Given the description of an element on the screen output the (x, y) to click on. 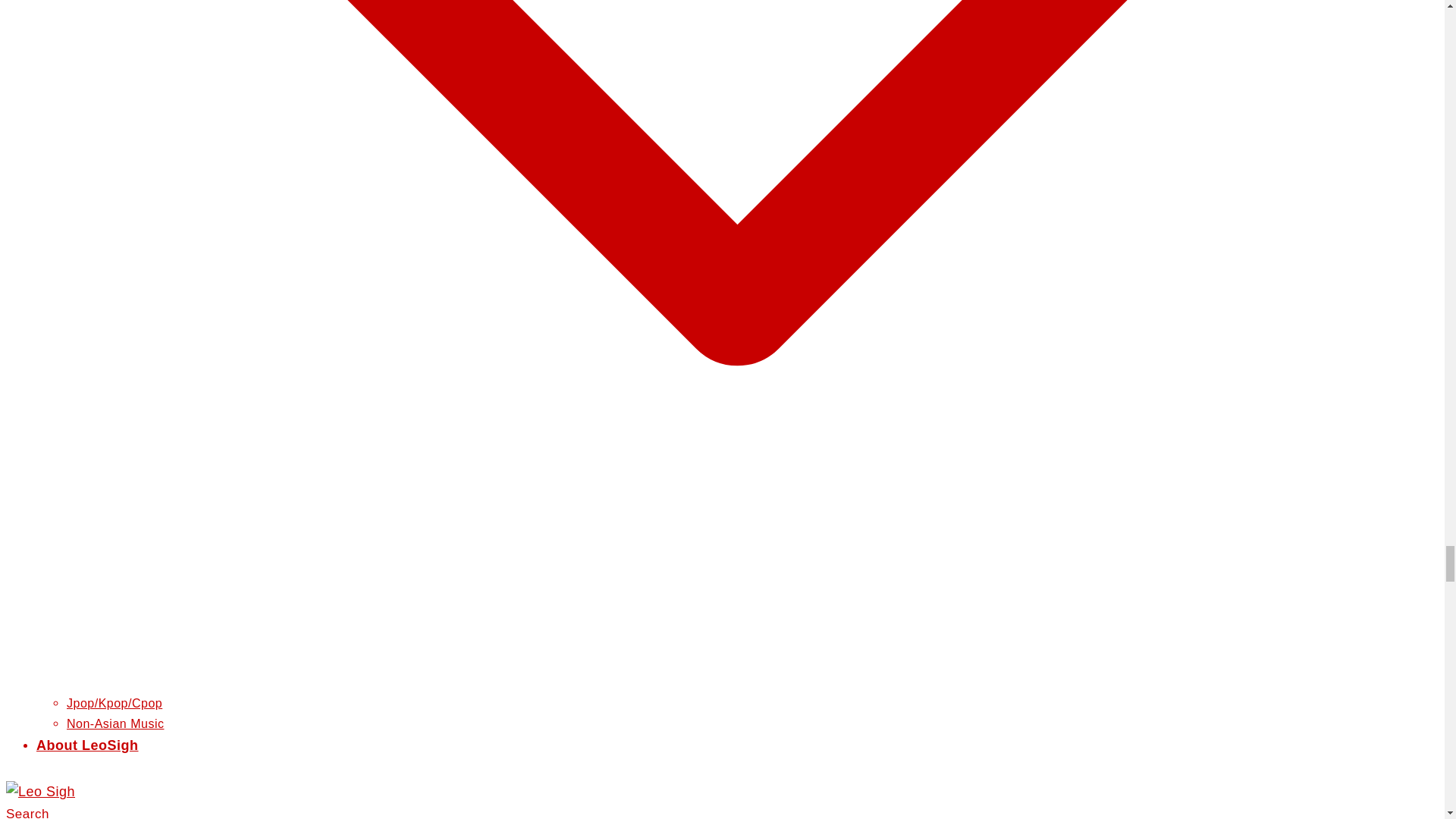
About LeoSigh (87, 745)
Leo Sigh (40, 791)
Non-Asian Music (114, 723)
